Given the description of an element on the screen output the (x, y) to click on. 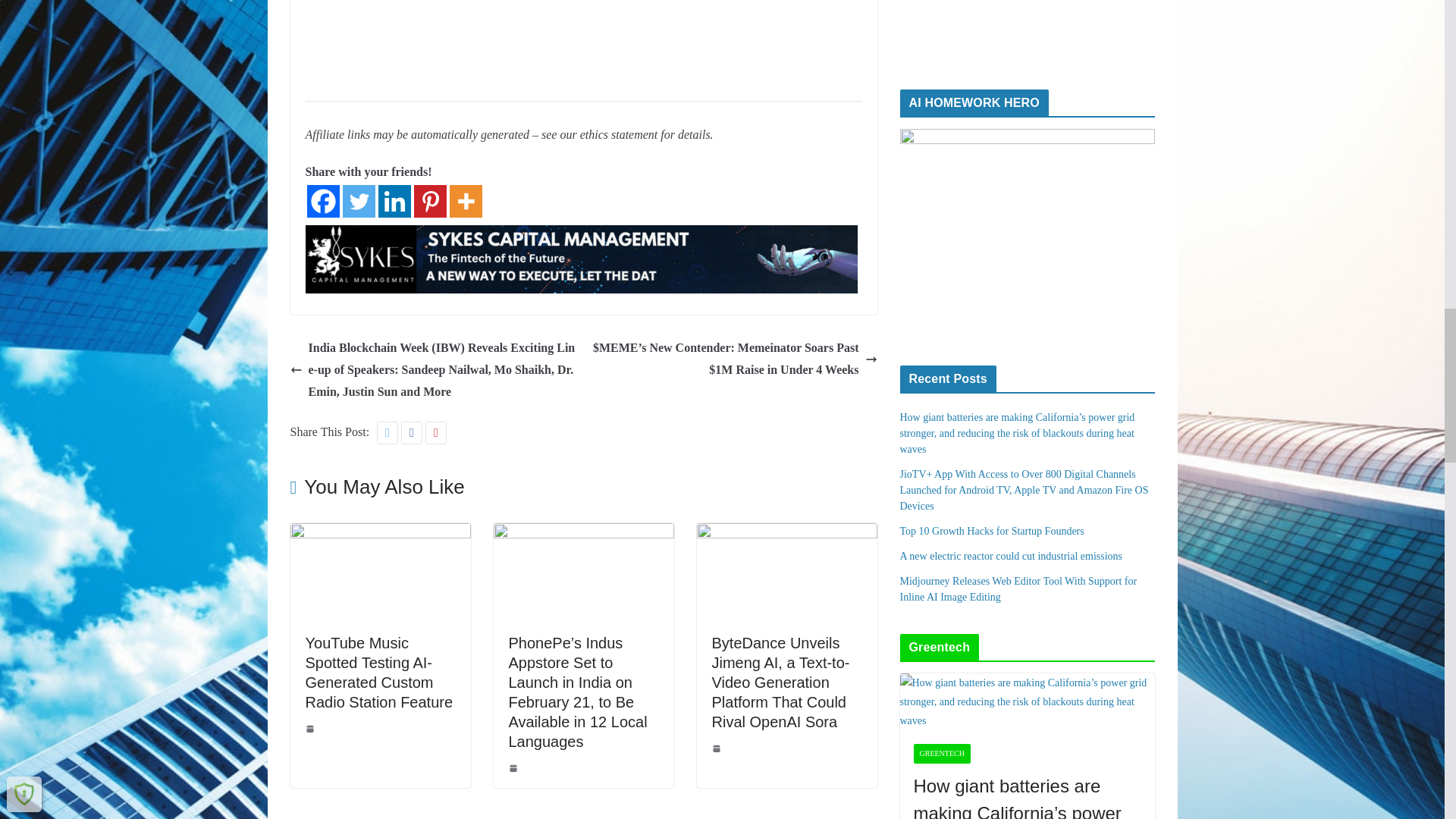
Linkedin (393, 201)
Facebook (322, 201)
More (464, 201)
Pinterest (429, 201)
Twitter (358, 201)
